Given the description of an element on the screen output the (x, y) to click on. 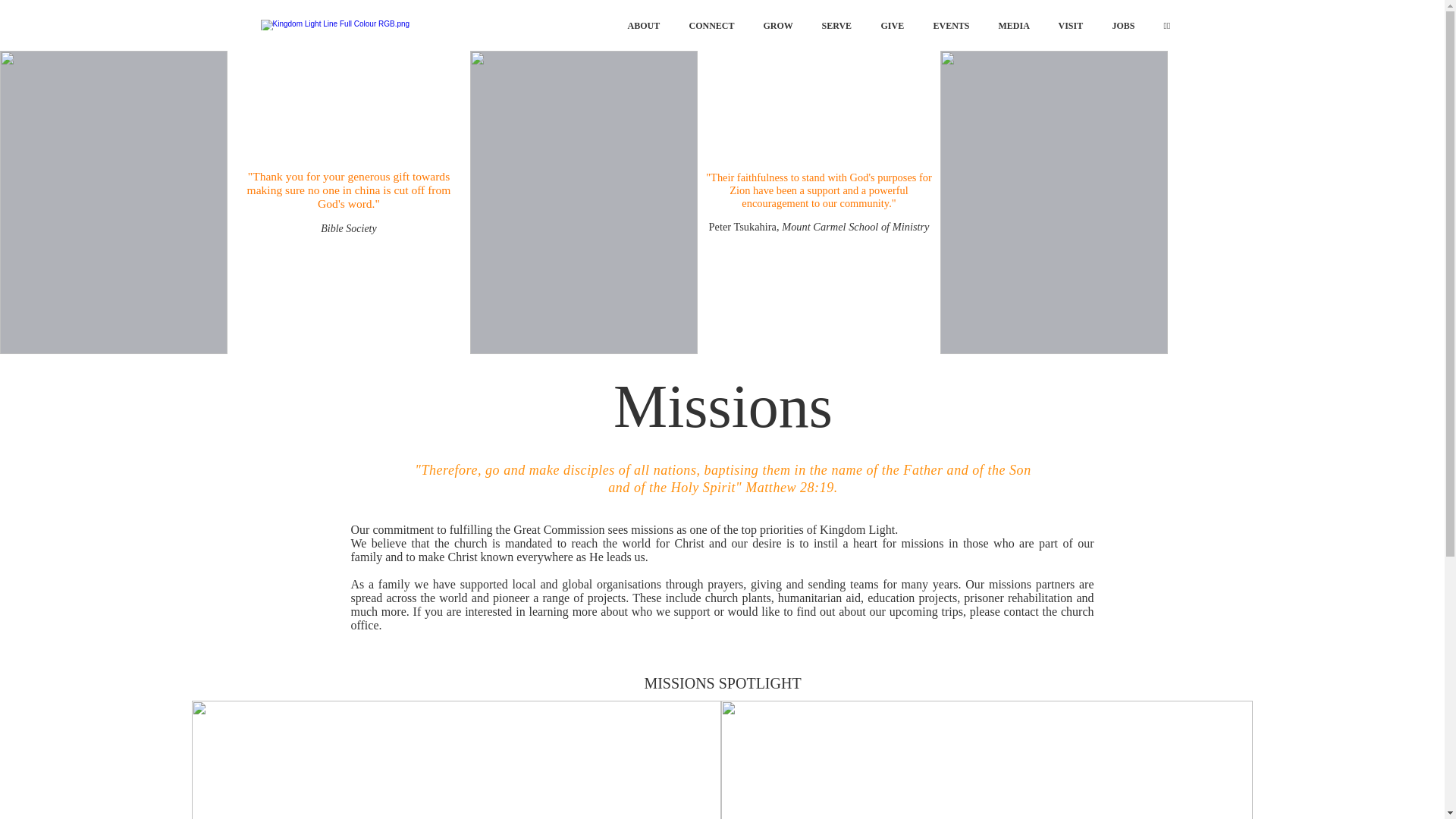
ABOUT Element type: text (646, 24)
EVENTS Element type: text (954, 24)
VISIT Element type: text (1073, 24)
